Given the description of an element on the screen output the (x, y) to click on. 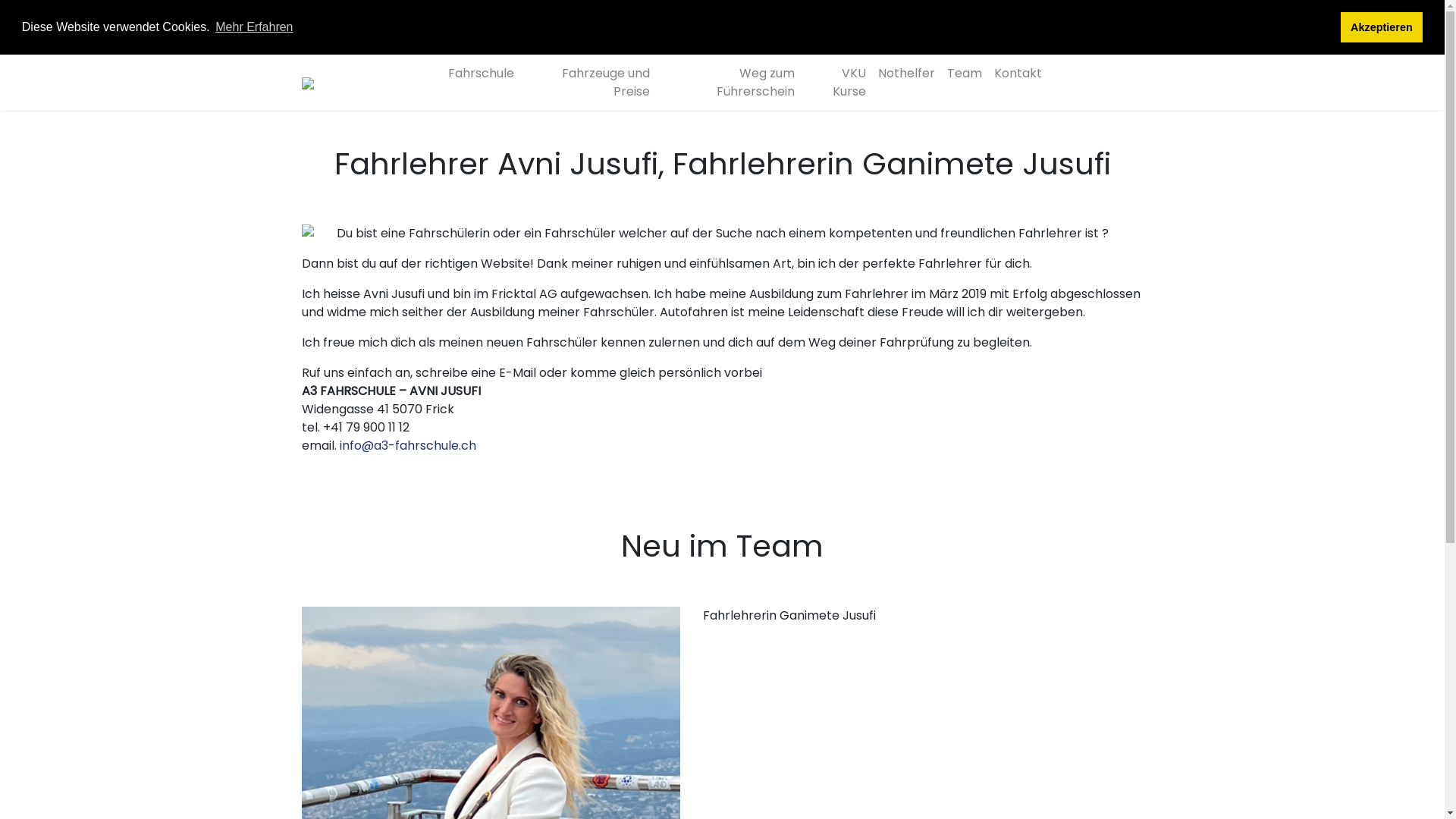
Fahrzeuge und Preise Element type: text (587, 82)
Fahrschule Element type: text (480, 73)
Team Element type: text (963, 73)
Kontakt Element type: text (1017, 73)
info@a3-fahrschule.ch Element type: text (407, 445)
Mehr Erfahren Element type: text (254, 26)
VKU Kurse Element type: text (836, 82)
Akzeptieren Element type: text (1381, 27)
Nothelfer Element type: text (906, 73)
